Given the description of an element on the screen output the (x, y) to click on. 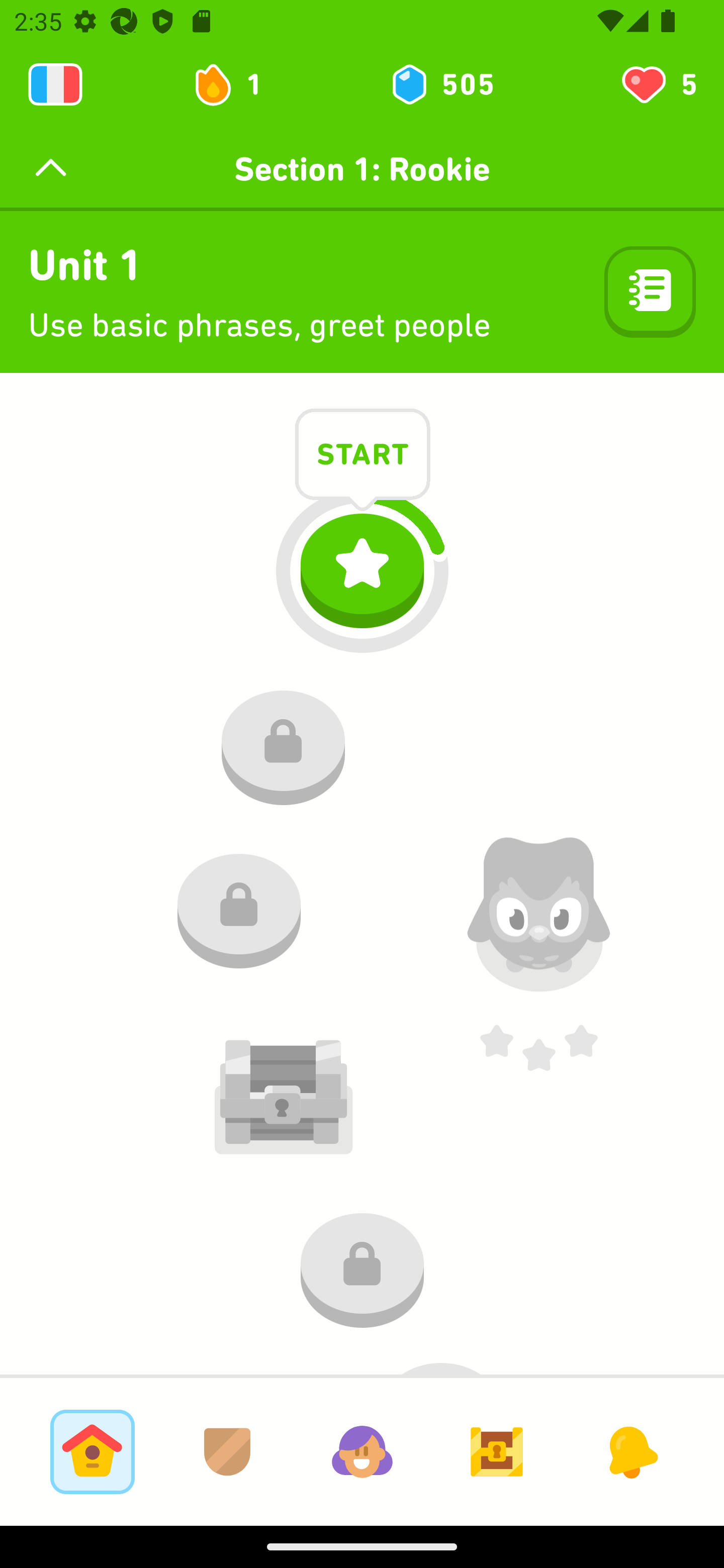
Learning 2131888976 (55, 84)
1 day streak 1 (236, 84)
505 (441, 84)
You have 5 hearts left 5 (657, 84)
Section 1: Rookie (362, 169)
START (362, 457)
Learn Tab (91, 1451)
Leagues Tab (227, 1451)
Profile Tab (361, 1451)
Goals Tab (496, 1451)
News Tab (631, 1451)
